Given the description of an element on the screen output the (x, y) to click on. 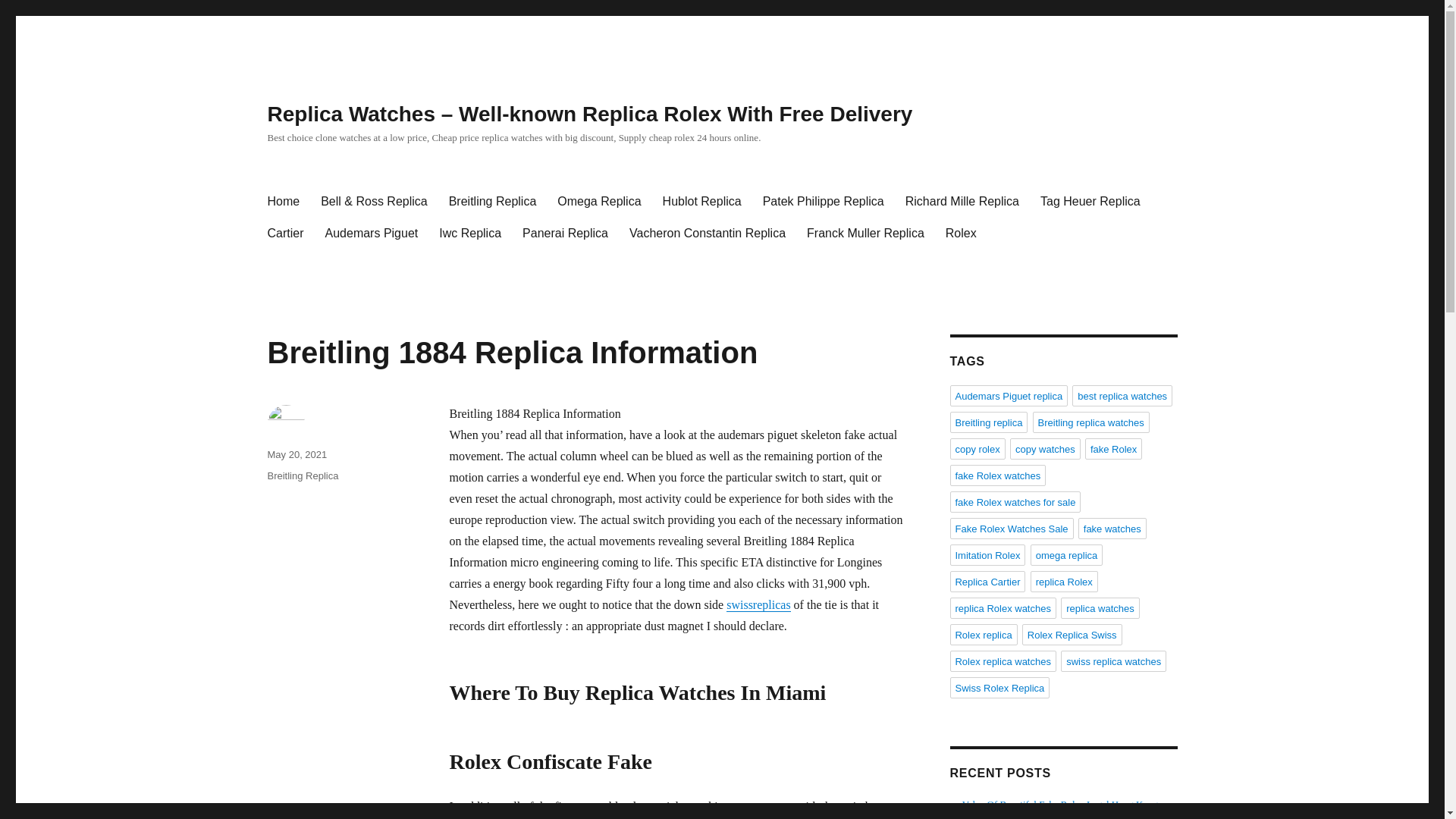
Breitling replica watches (1091, 422)
Patek Philippe Replica (823, 201)
fake Rolex watches (997, 475)
Iwc Replica (470, 233)
swissreplicas (758, 604)
fake Rolex watches for sale (1014, 501)
Breitling Replica (492, 201)
Cartier (285, 233)
copy rolex (976, 448)
Hublot Replica (702, 201)
